Given the description of an element on the screen output the (x, y) to click on. 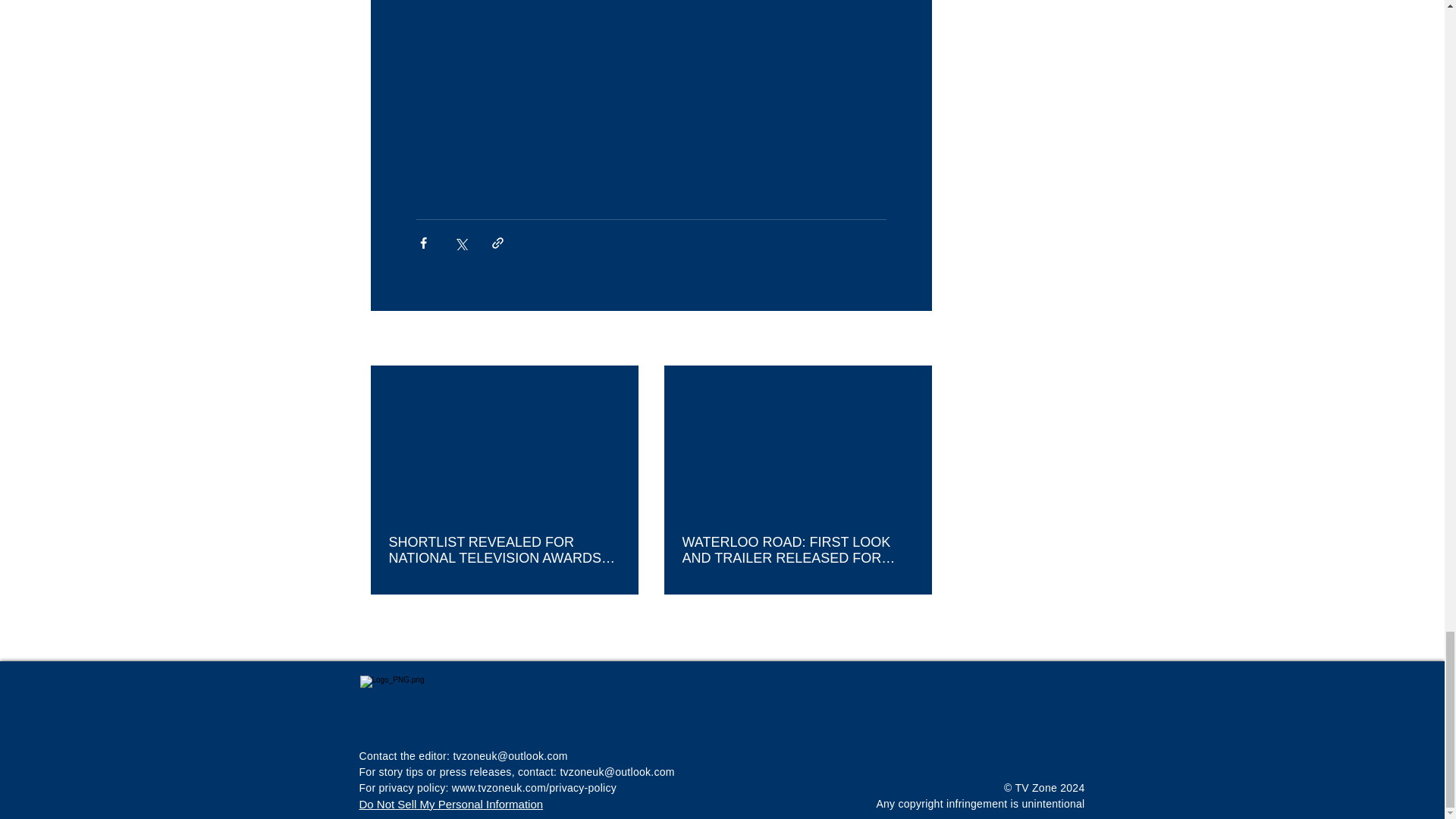
See All (914, 339)
